Given the description of an element on the screen output the (x, y) to click on. 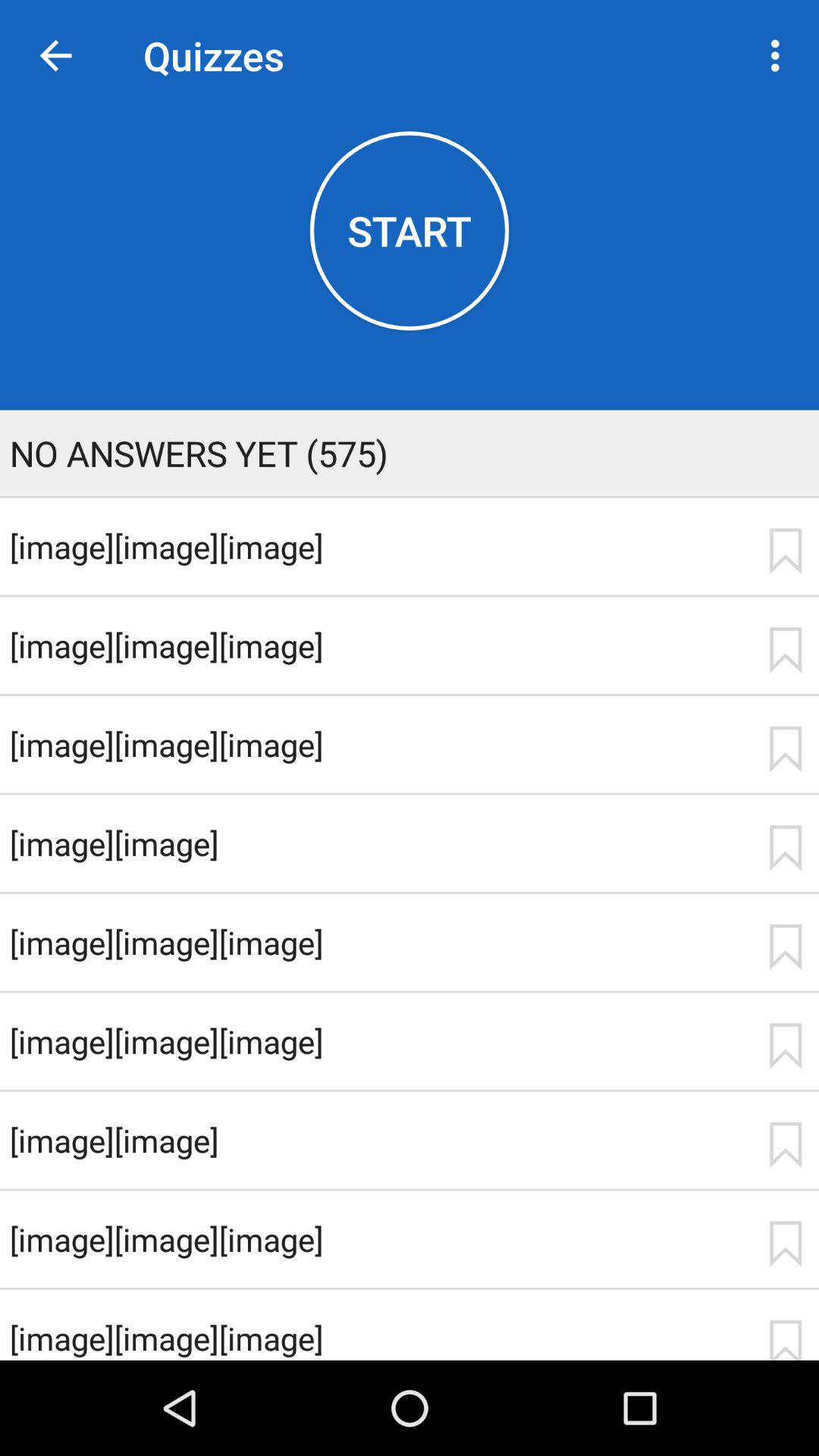
tap icon next to the [image][image][image] (784, 650)
